Given the description of an element on the screen output the (x, y) to click on. 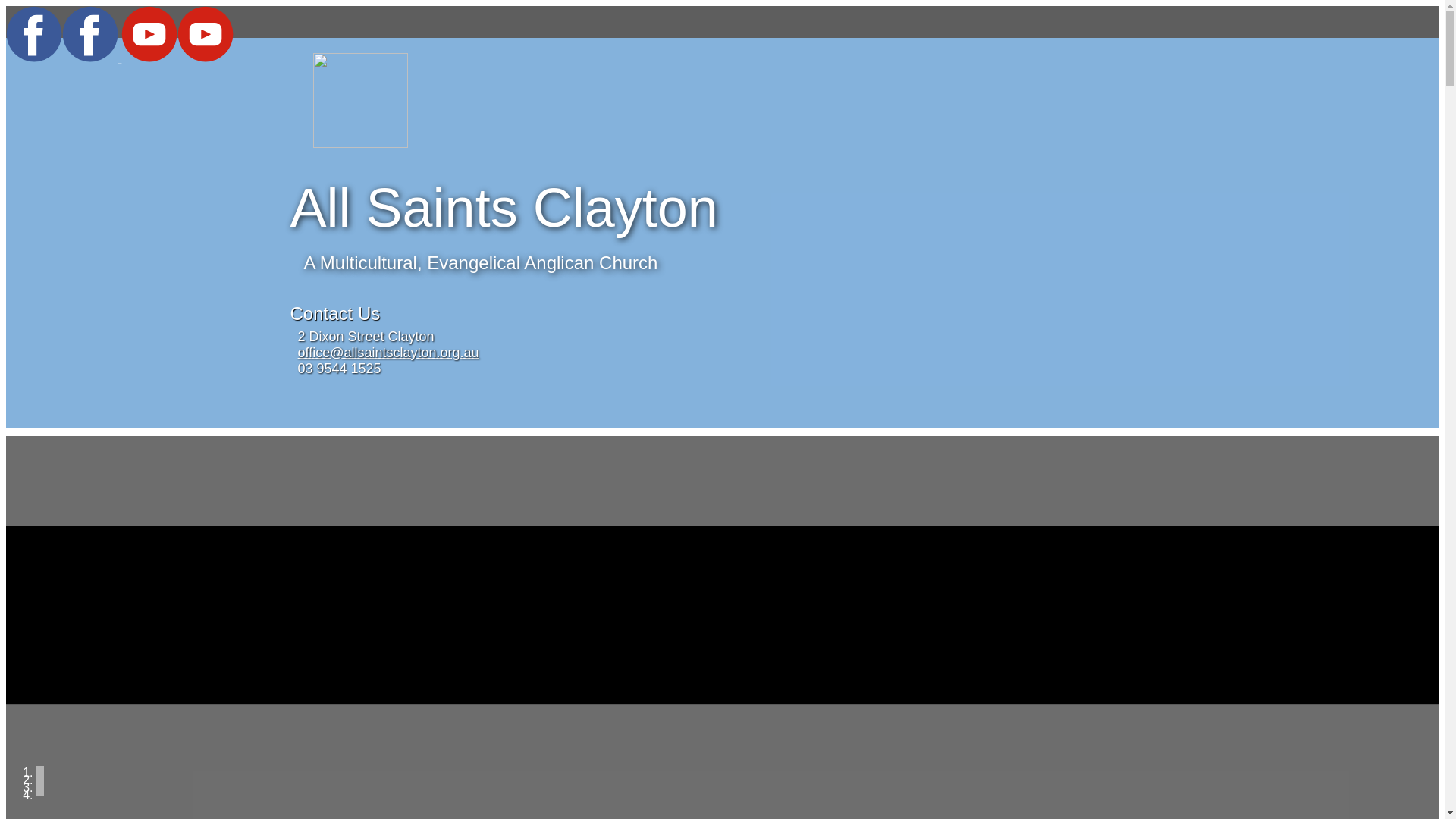
YouTube Element type: hover (177, 57)
Facebook Element type: hover (63, 57)
office@allsaintsclayton.org.au Element type: text (387, 352)
